Given the description of an element on the screen output the (x, y) to click on. 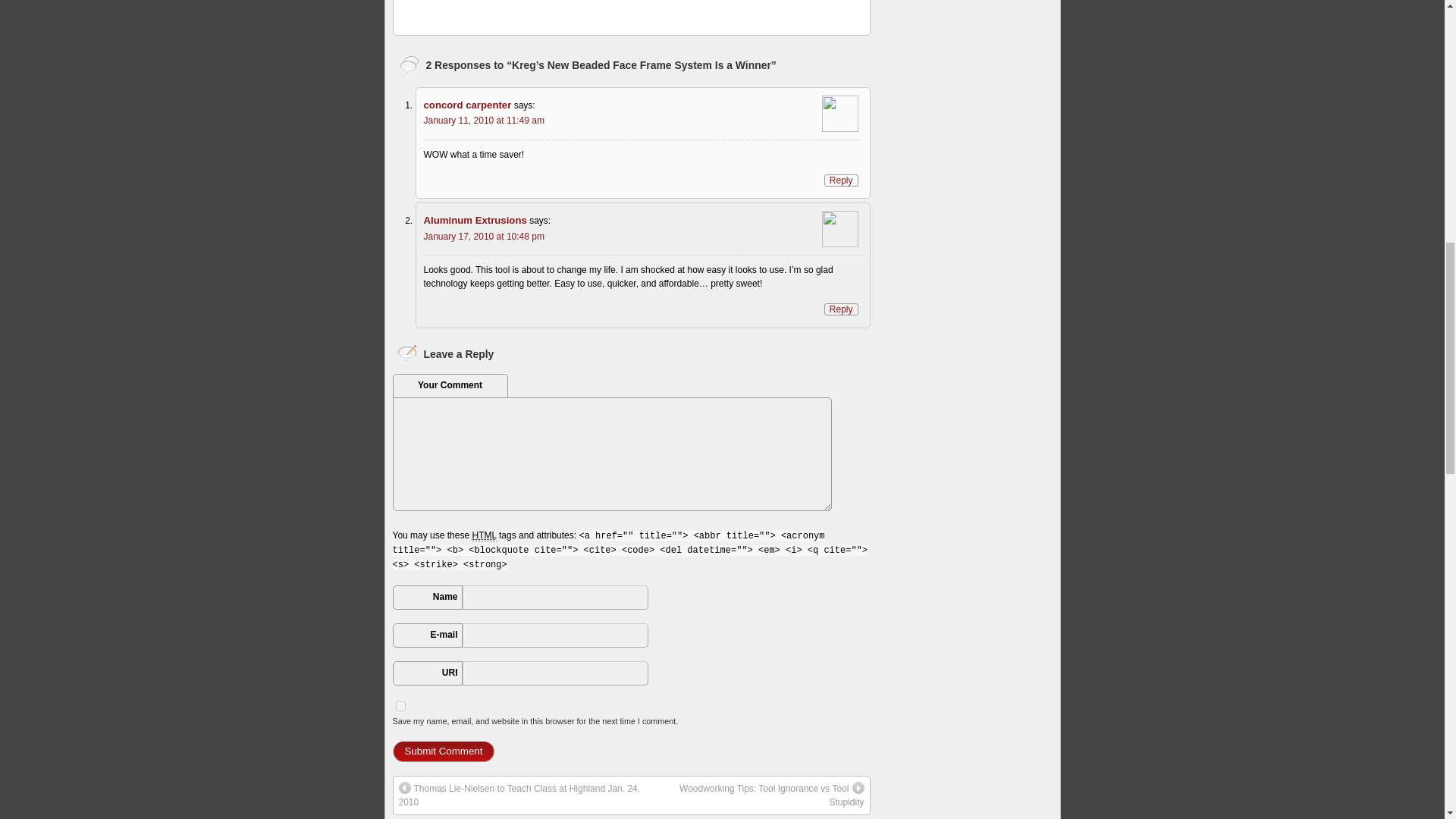
yes (401, 706)
HyperText Markup Language (483, 535)
Reply (841, 309)
  Woodworking Tips: Tool Ignorance vs Tool Stupidity (756, 795)
concord carpenter (467, 104)
Submit Comment (444, 751)
Submit Comment (444, 751)
January 11, 2010 at 11:49 am (483, 120)
Reply (841, 180)
